Given the description of an element on the screen output the (x, y) to click on. 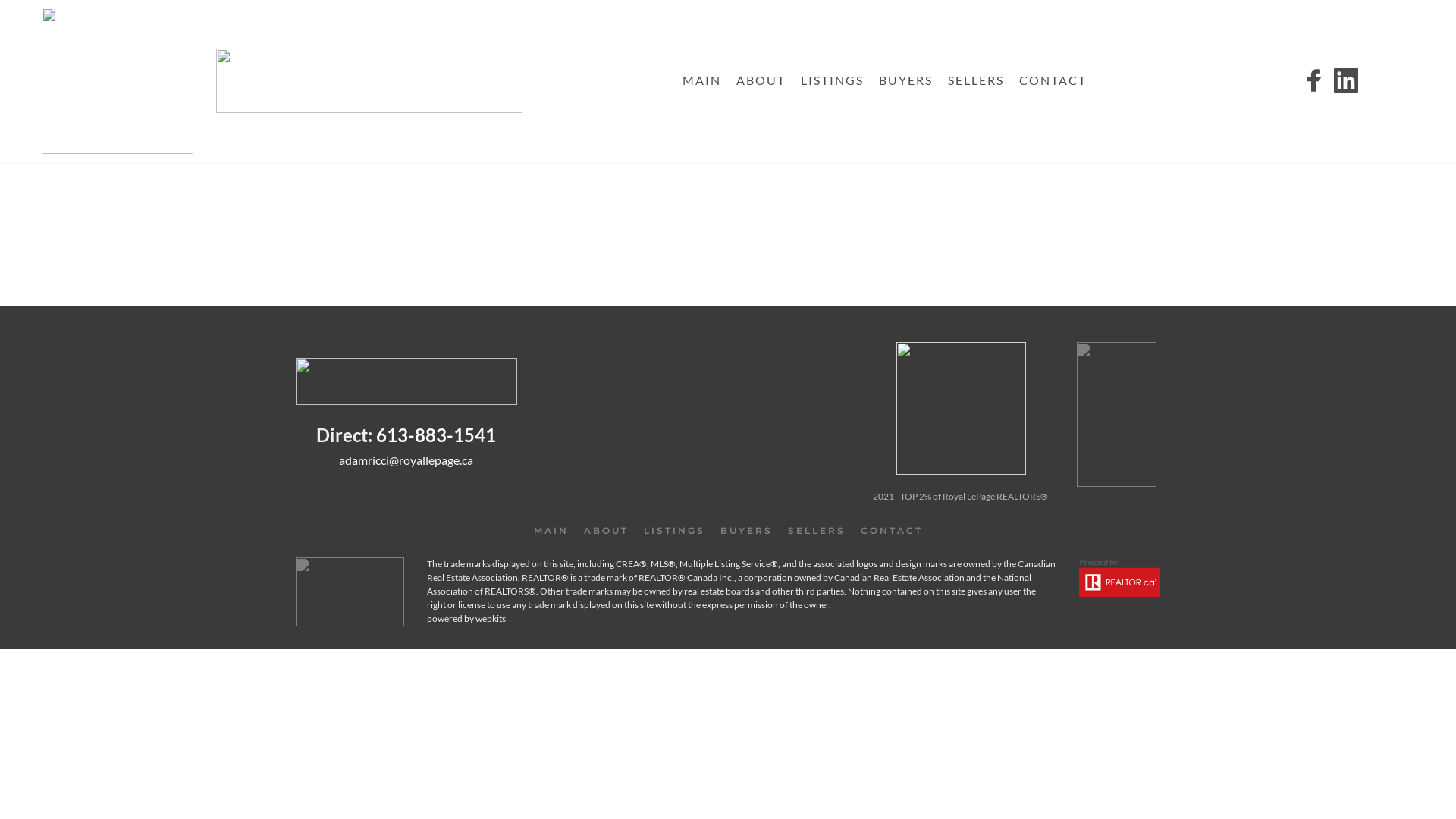
CONTACT Element type: text (891, 530)
LISTINGS Element type: text (832, 80)
 webkits  Element type: text (490, 618)
MAIN Element type: text (701, 80)
SELLERS Element type: text (816, 530)
ABOUT Element type: text (760, 80)
LISTINGS Element type: text (674, 530)
613-883-1541 Element type: text (435, 434)
CONTACT Element type: text (1052, 80)
MAIN Element type: text (550, 530)
adamricci@royallepage.ca Element type: text (405, 459)
BUYERS Element type: text (745, 530)
SELLERS Element type: text (975, 80)
BUYERS Element type: text (905, 80)
ABOUT Element type: text (605, 530)
